Given the description of an element on the screen output the (x, y) to click on. 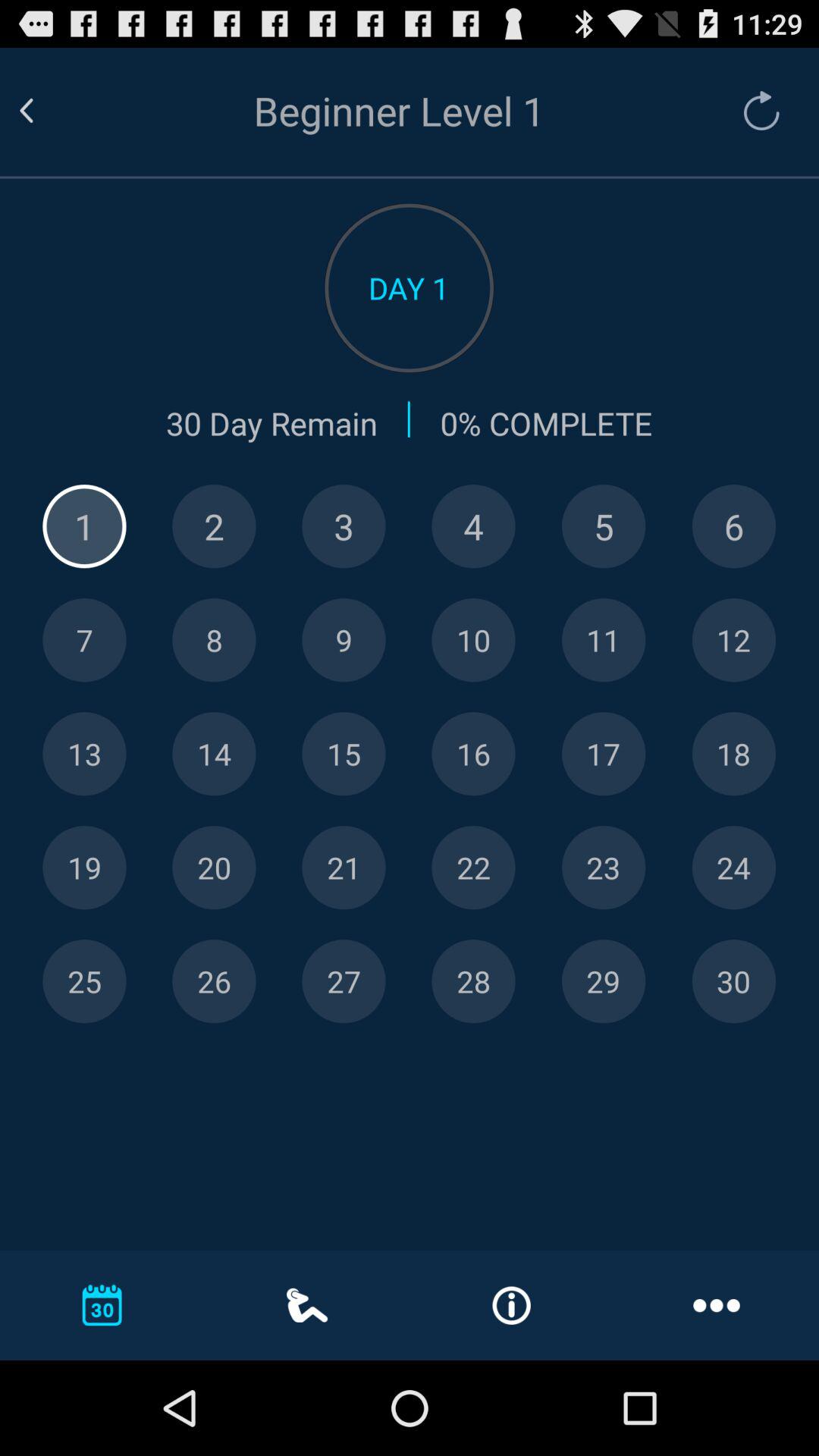
day select button (473, 981)
